Given the description of an element on the screen output the (x, y) to click on. 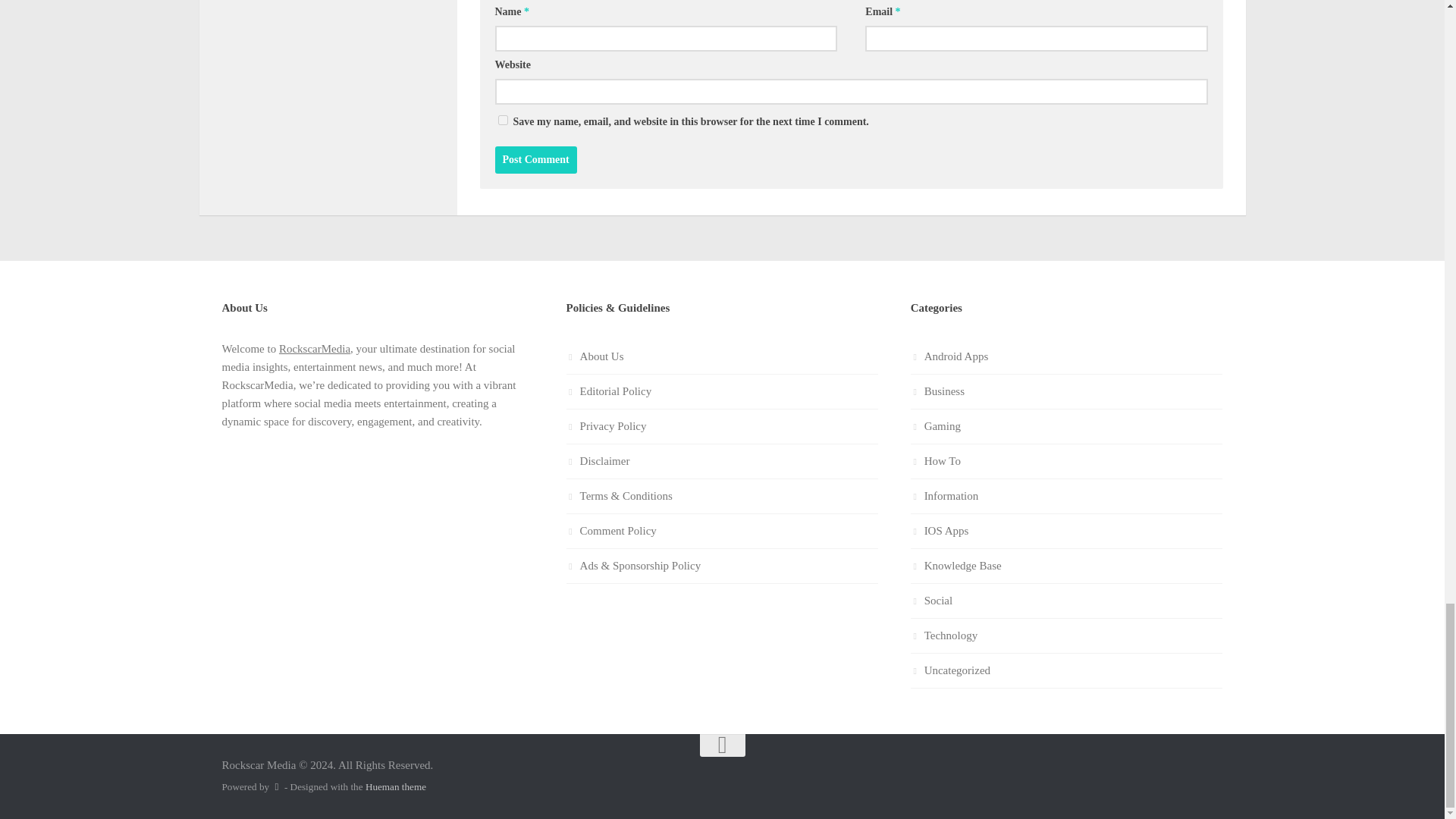
Android Apps (949, 356)
How To (935, 460)
Gaming (935, 426)
Post Comment (535, 159)
Editorial Policy (722, 391)
Privacy Policy (722, 426)
Powered by WordPress (275, 786)
RockscarMedia (314, 348)
Hueman theme (395, 786)
Disclaimer (722, 461)
Comment Policy (722, 531)
About Us (722, 356)
Post Comment (535, 159)
yes (501, 120)
Business (937, 390)
